Given the description of an element on the screen output the (x, y) to click on. 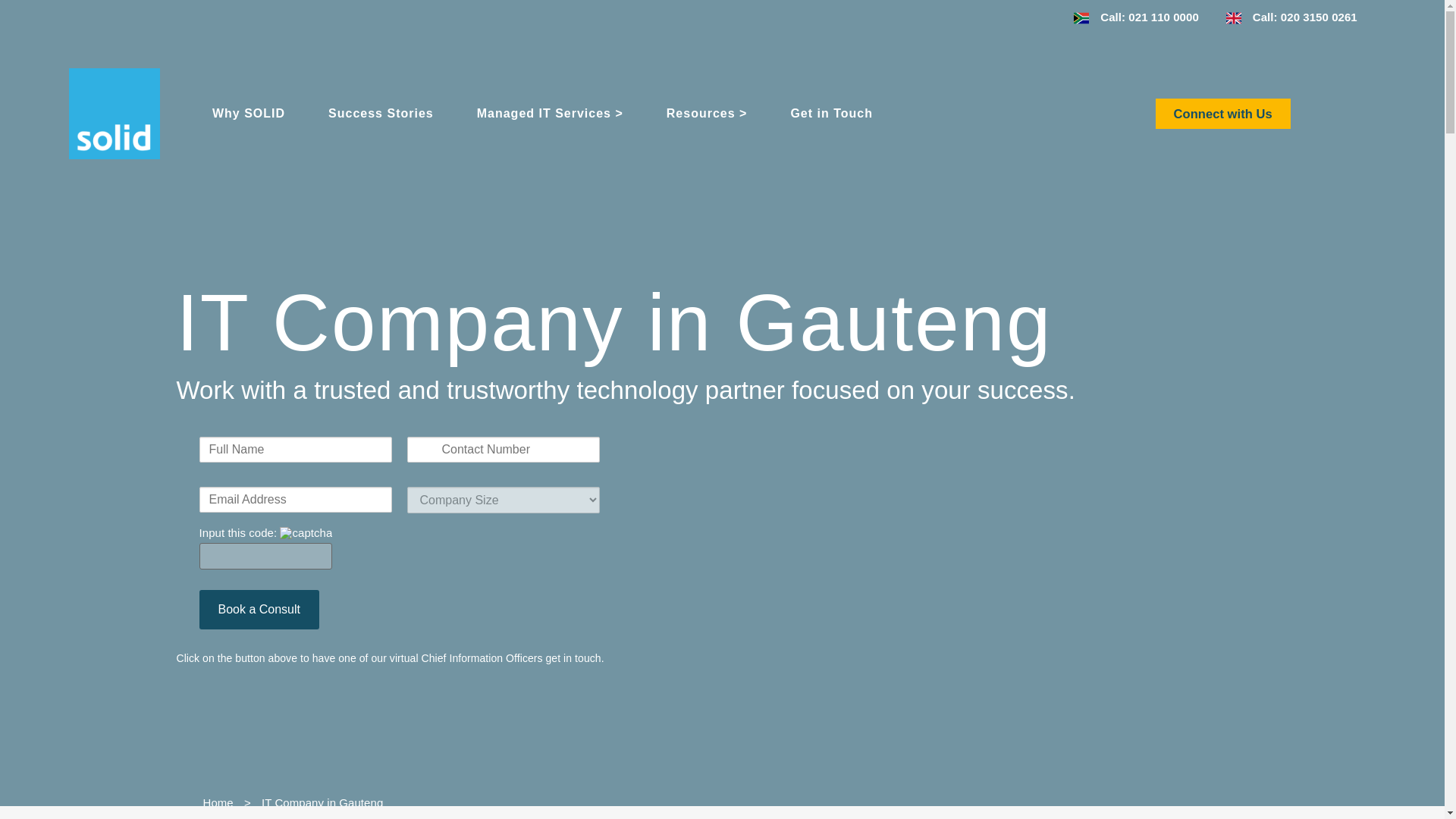
Call: 020 3150 0261 (1290, 17)
Solid Systems (114, 112)
Call: 021 110 0000 (1136, 17)
Get in Touch (830, 113)
Why SOLID (248, 113)
Book a Consult (258, 609)
Success Stories (381, 113)
